Given the description of an element on the screen output the (x, y) to click on. 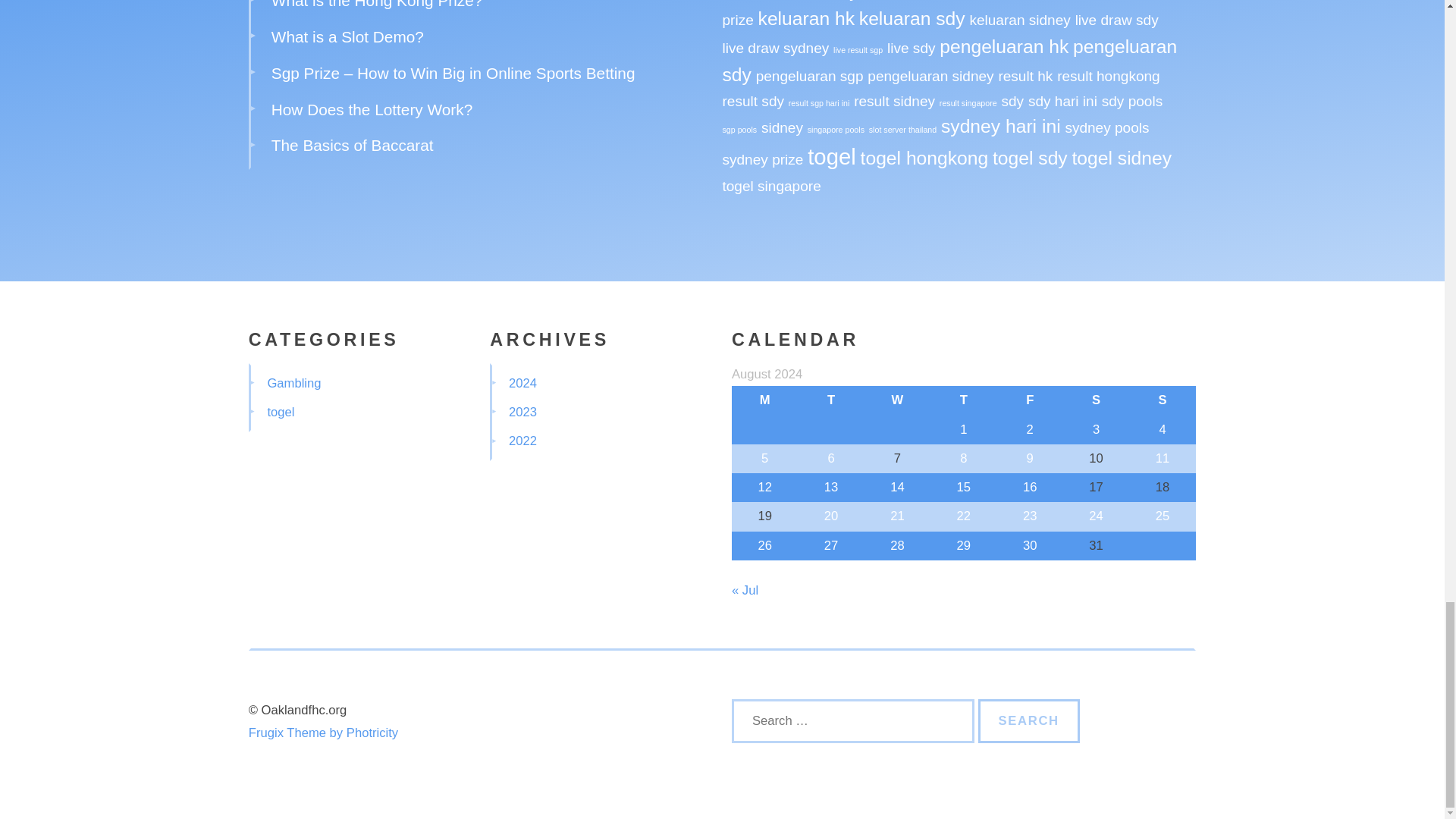
Sunday (1162, 399)
pengeluaran hk (1003, 46)
keluaran sidney (1019, 19)
result sidney (893, 100)
Thursday (962, 399)
result hongkong (1108, 75)
keluaran sdy (912, 18)
live result sgp (857, 49)
keluaran hk (806, 18)
The Basics of Baccarat (351, 144)
